Given the description of an element on the screen output the (x, y) to click on. 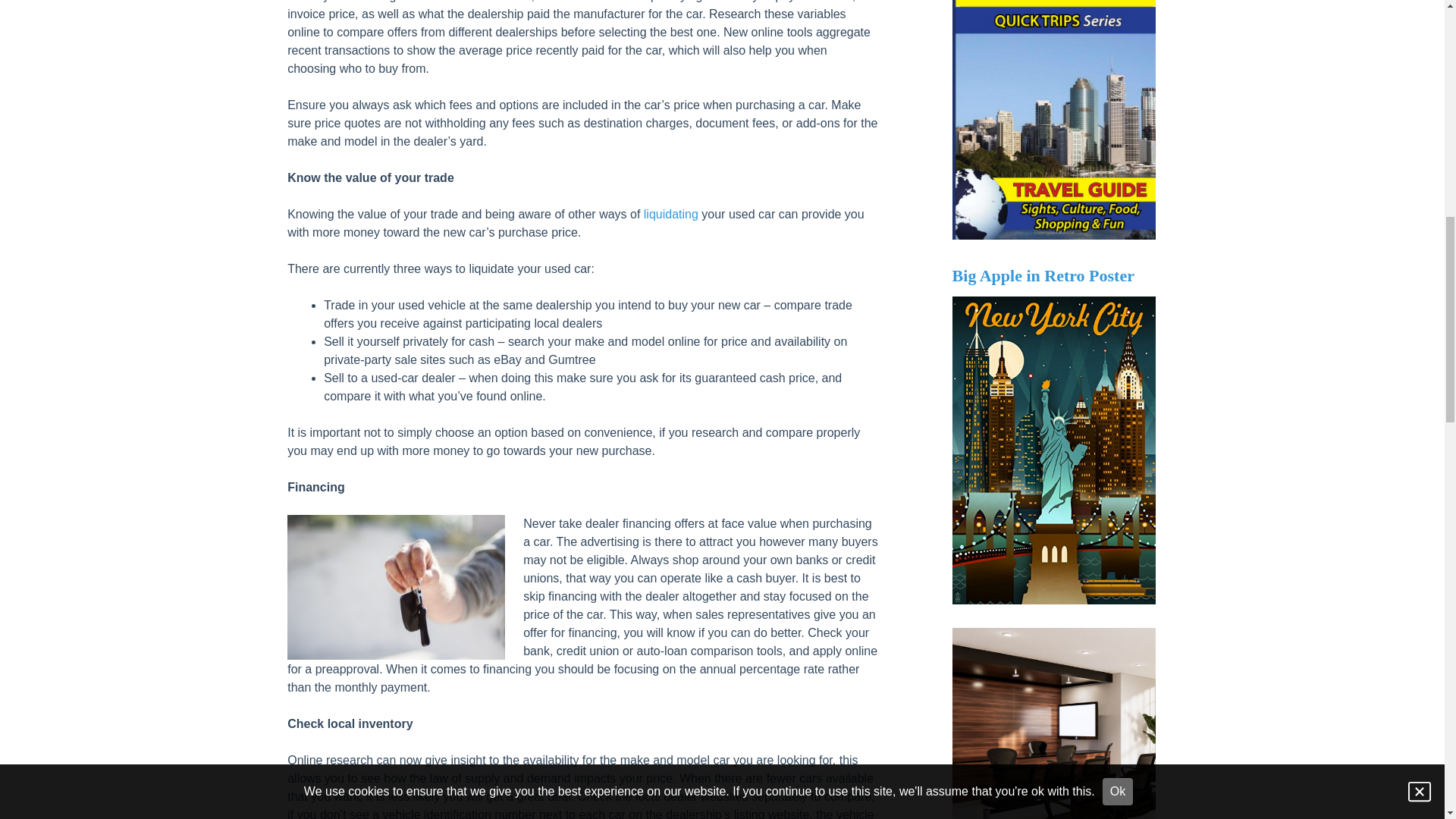
liquidating (670, 214)
